Given the description of an element on the screen output the (x, y) to click on. 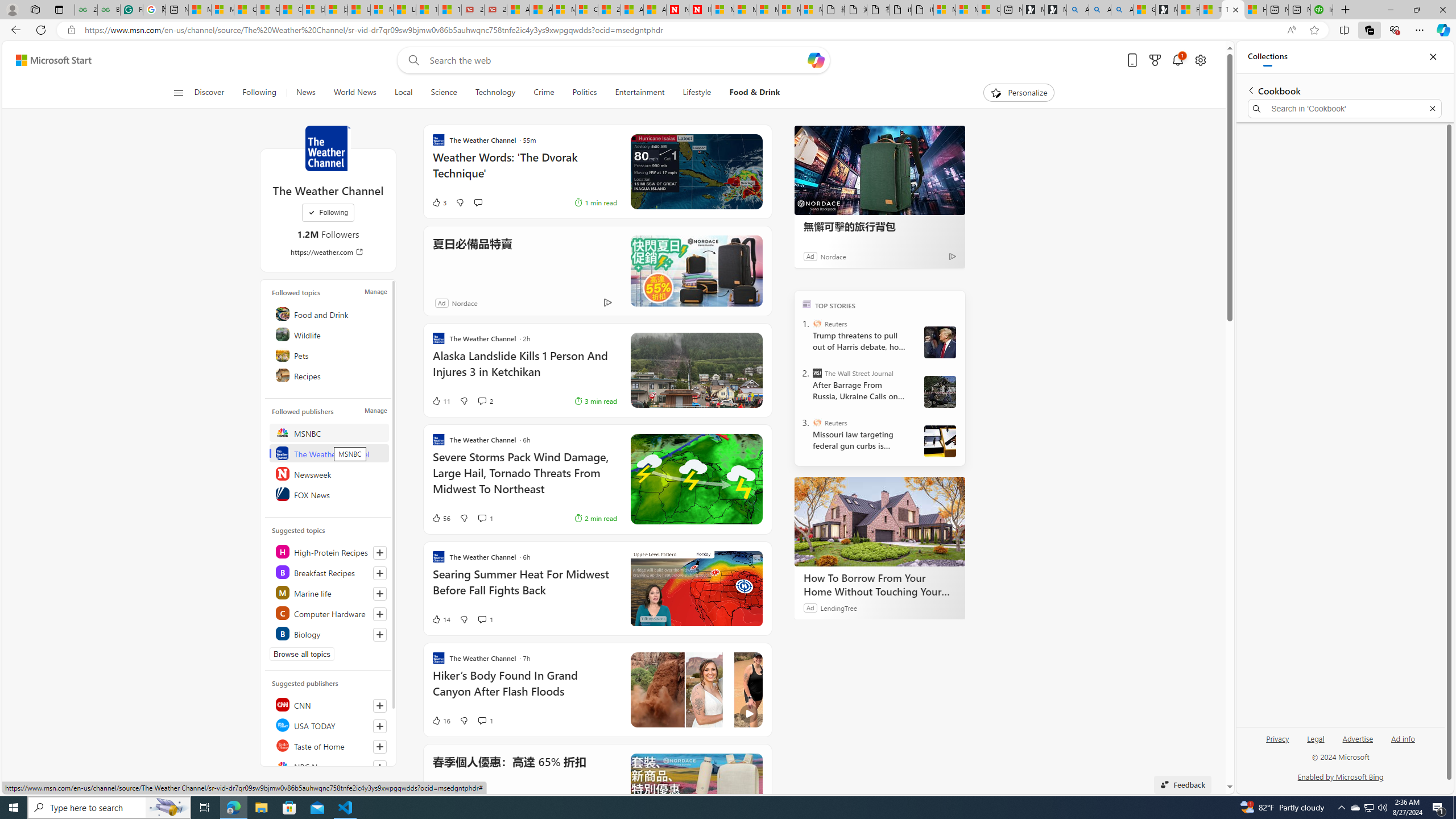
The Weather Channel (327, 148)
15 Ways Modern Life Contradicts the Teachings of Jesus (449, 9)
View comments 2 Comment (485, 400)
USA TODAY - MSN (359, 9)
Class: hero-image (696, 689)
